Given the description of an element on the screen output the (x, y) to click on. 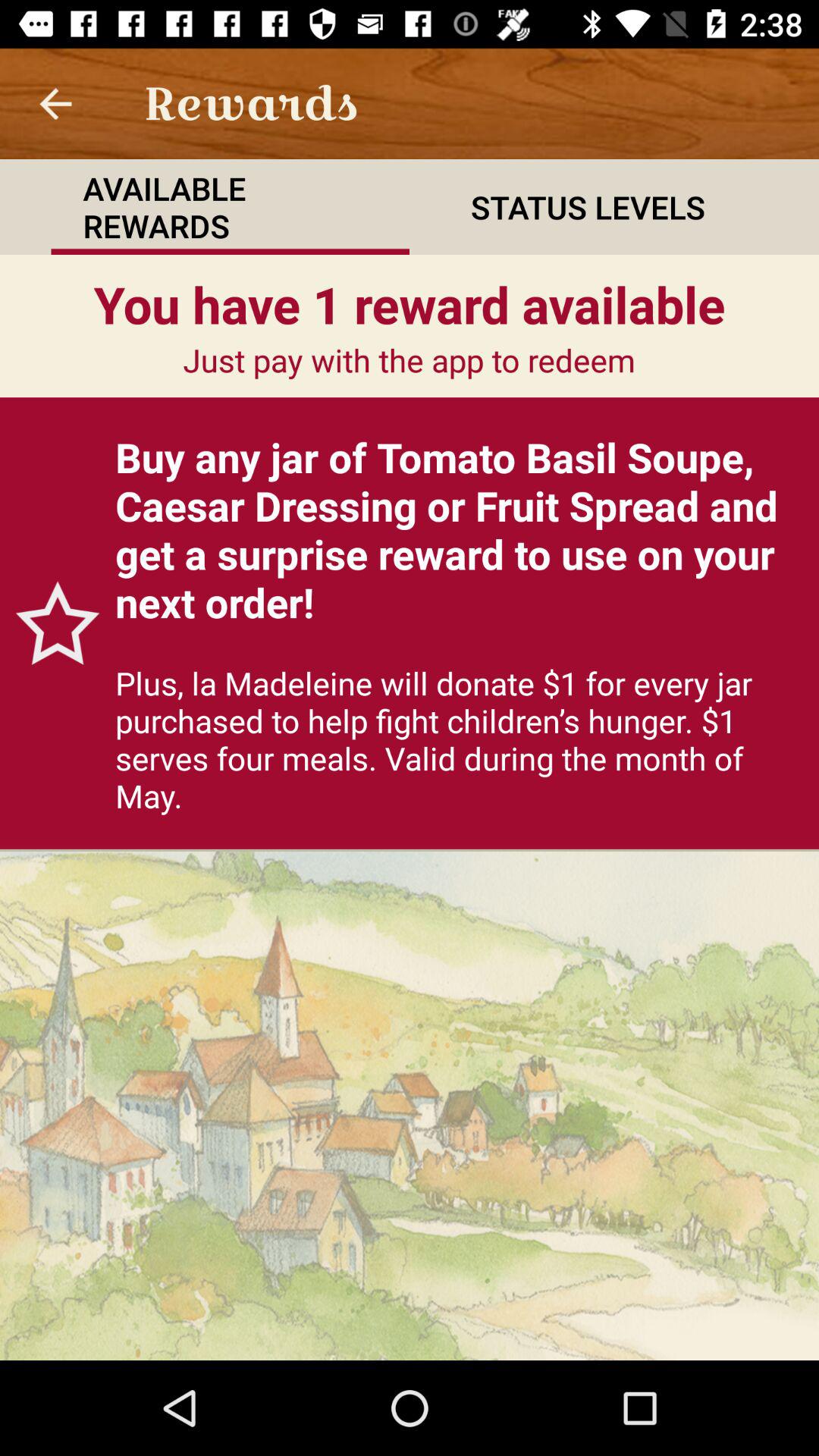
turn on plus la madeleine item (459, 739)
